Given the description of an element on the screen output the (x, y) to click on. 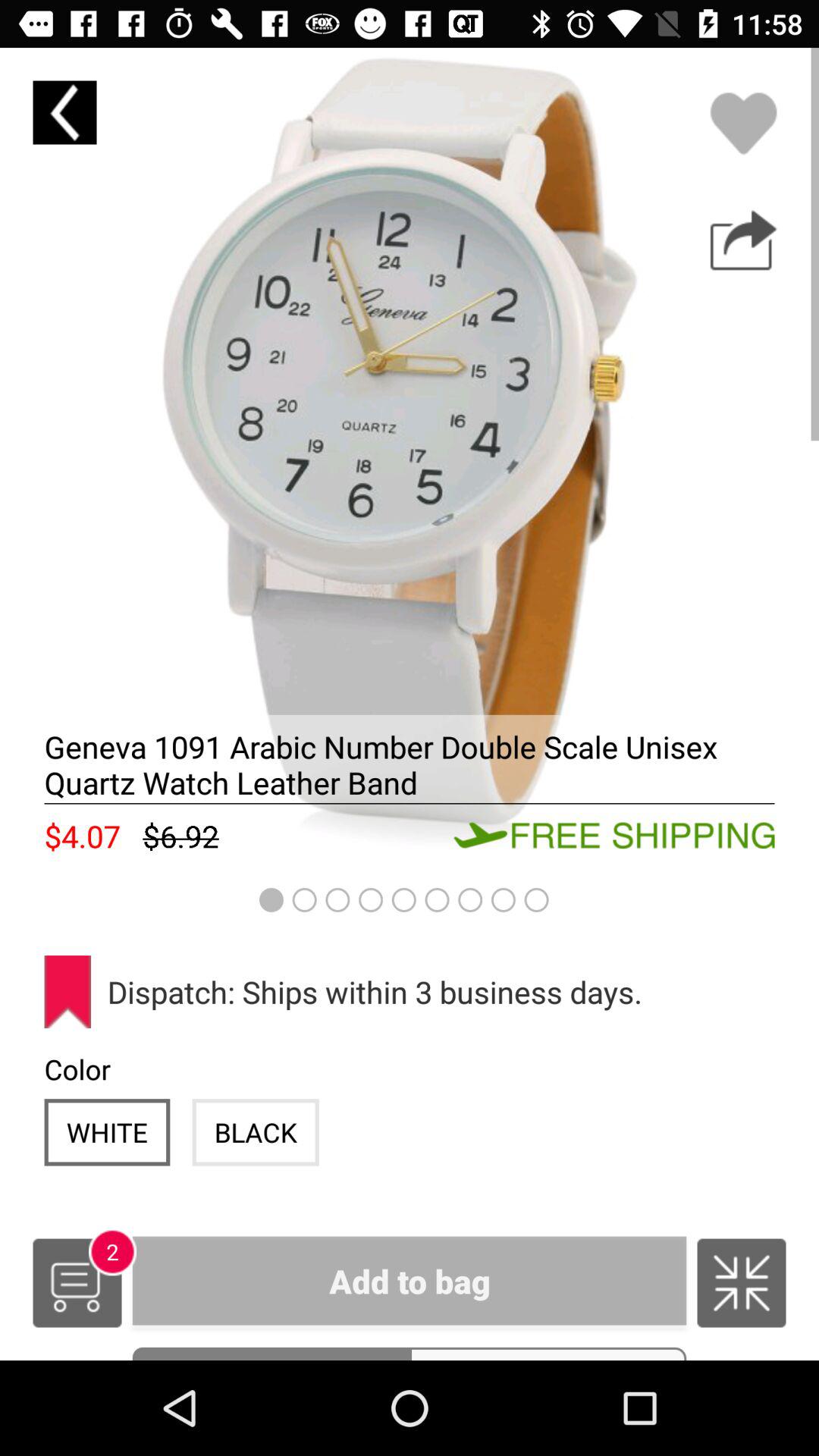
view cart (76, 1282)
